Given the description of an element on the screen output the (x, y) to click on. 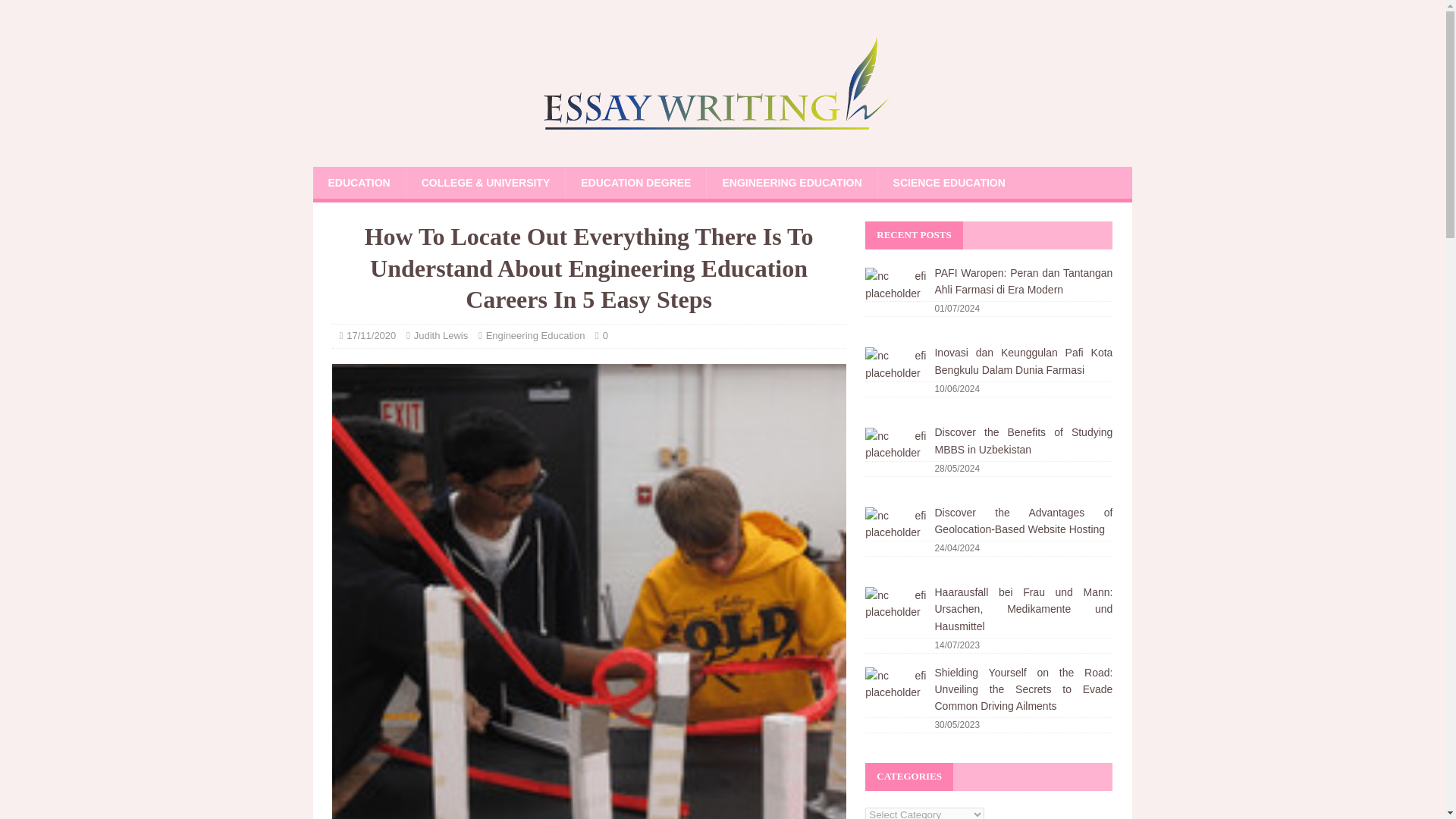
Discover the Advantages of Geolocation-Based Website Hosting (1023, 520)
Judith Lewis (440, 335)
ENGINEERING EDUCATION (791, 183)
Discover the Benefits of Studying MBBS in Uzbekistan (1023, 440)
Discover the Benefits of Studying MBBS in Uzbekistan (895, 457)
Discover the Benefits of Studying MBBS in Uzbekistan (1023, 440)
PAFI Waropen: Peran dan Tantangan Ahli Farmasi di Era Modern (895, 297)
EDUCATION DEGREE (635, 183)
PAFI Waropen: Peran dan Tantangan Ahli Farmasi di Era Modern (1023, 280)
SCIENCE EDUCATION (948, 183)
PAFI Waropen: Peran dan Tantangan Ahli Farmasi di Era Modern (1023, 280)
